Given the description of an element on the screen output the (x, y) to click on. 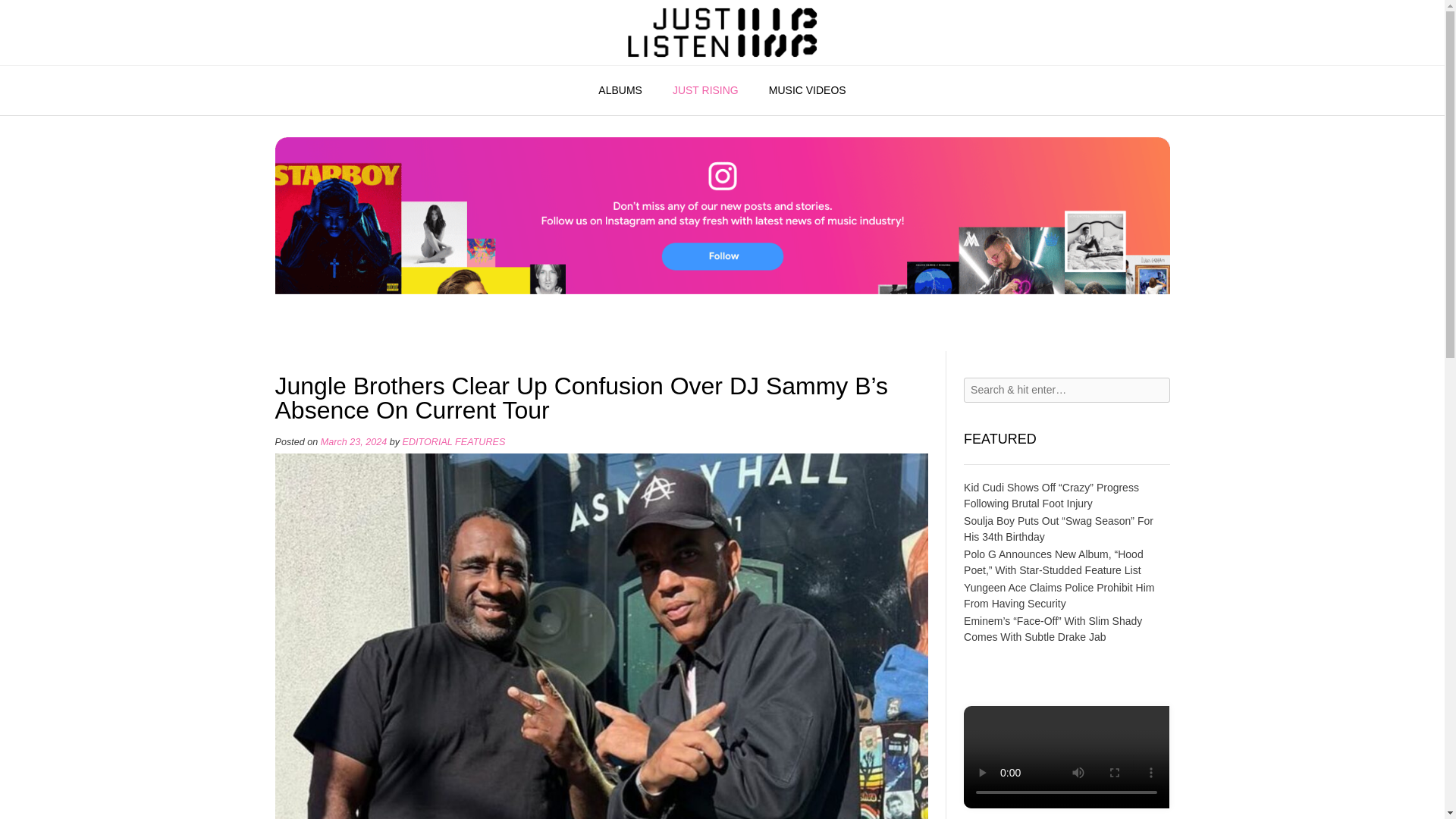
MUSIC VIDEOS (807, 91)
March 23, 2024 (353, 441)
EDITORIAL FEATURES (454, 441)
JUST RISING (706, 91)
ALBUMS (620, 91)
Just Listen Hip Hop (721, 32)
Instagram (722, 342)
Yungeen Ace Claims Police Prohibit Him From Having Security (1058, 595)
Your browser does not support the video tag. (1066, 804)
